Given the description of an element on the screen output the (x, y) to click on. 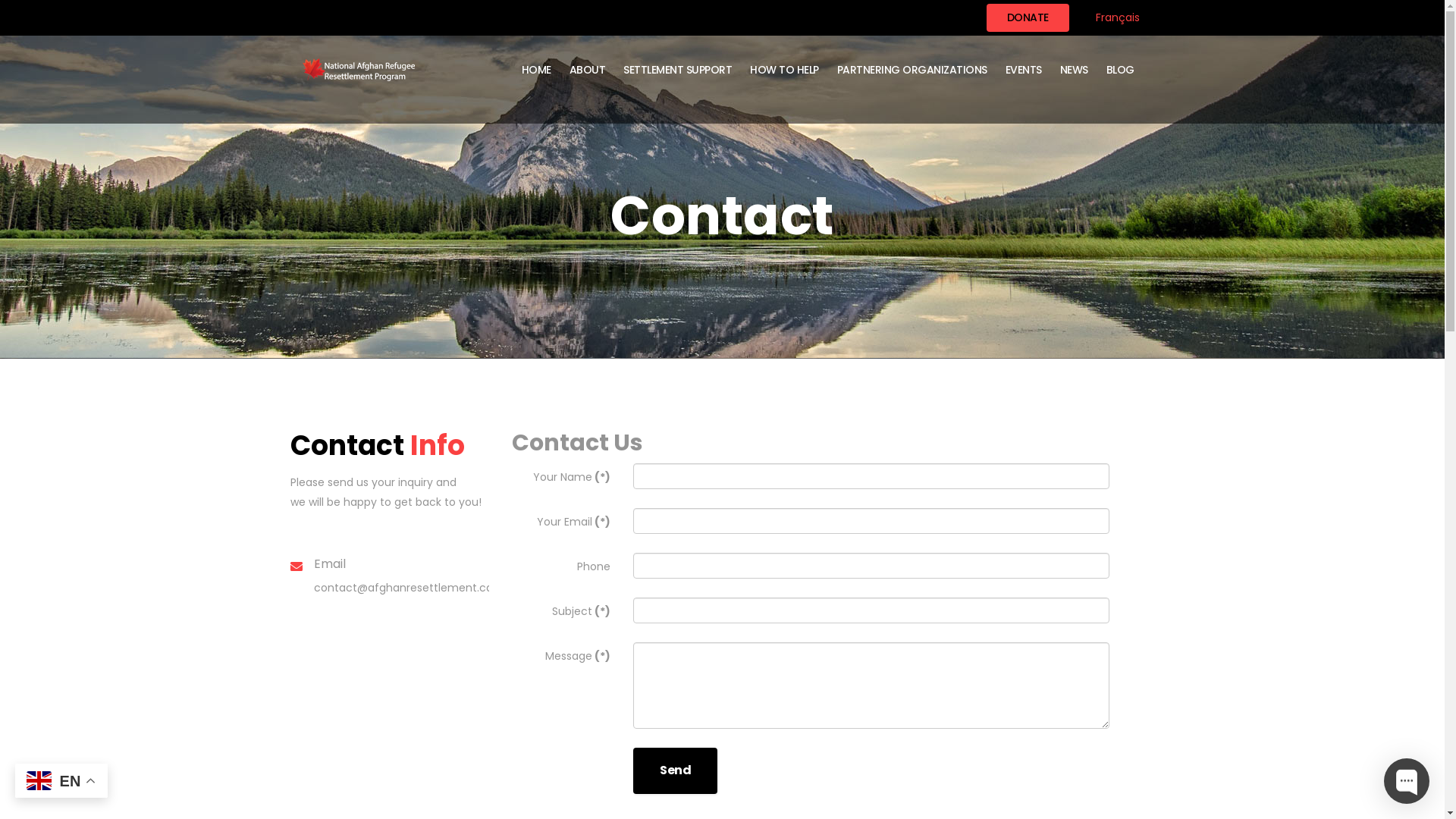
BLOG Element type: text (1119, 69)
NEWS Element type: text (1074, 69)
SETTLEMENT SUPPORT Element type: text (677, 69)
Send Element type: text (675, 770)
DONATE Element type: text (1026, 17)
ABOUT Element type: text (586, 69)
HOW TO HELP Element type: text (784, 69)
PARTNERING ORGANIZATIONS Element type: text (912, 69)
HOME Element type: text (536, 69)
EVENTS Element type: text (1023, 69)
